Given the description of an element on the screen output the (x, y) to click on. 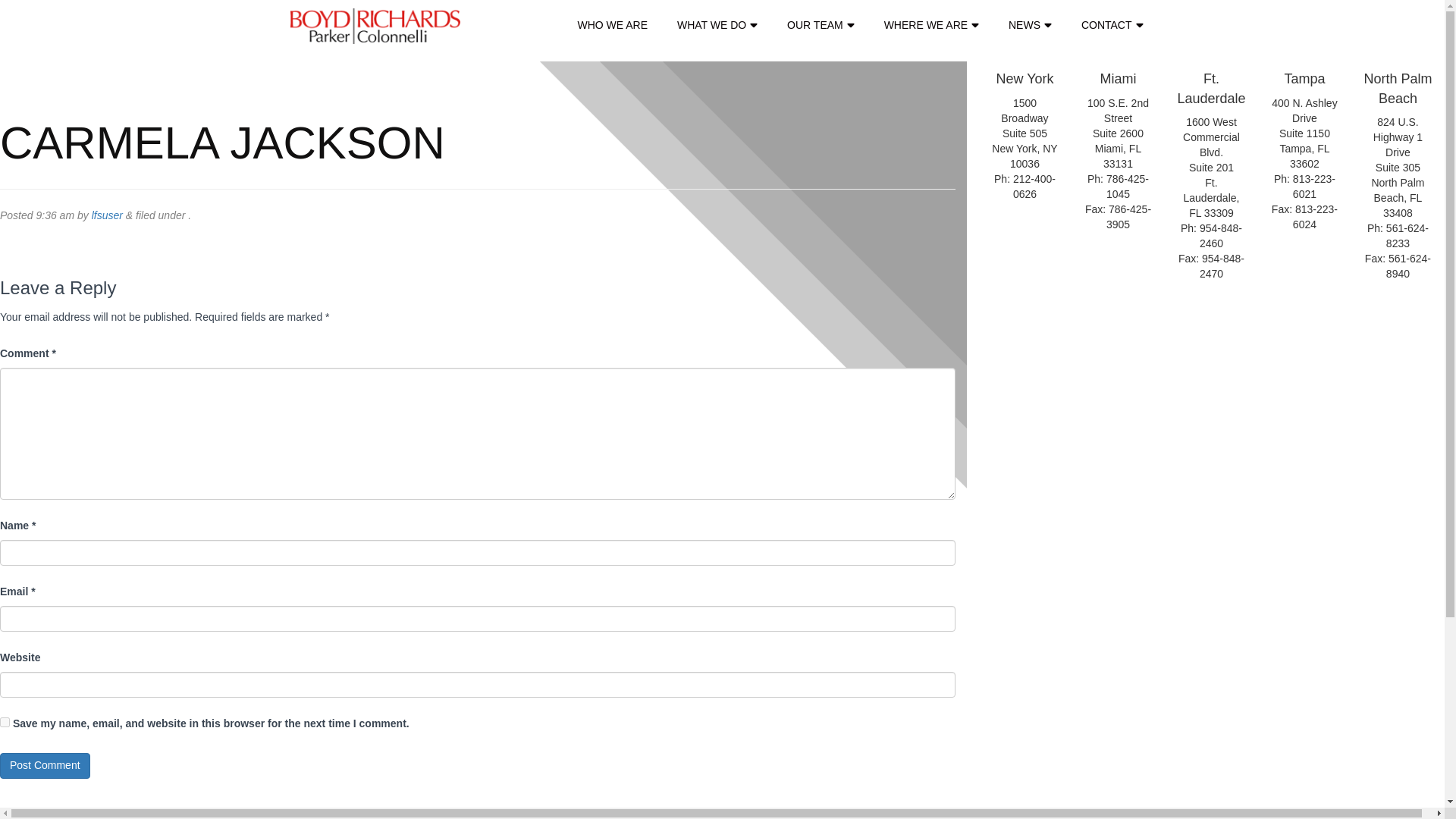
Posts by lfsuser (106, 215)
Post Comment (45, 765)
Attorney at Law (374, 26)
yes (5, 722)
